Given the description of an element on the screen output the (x, y) to click on. 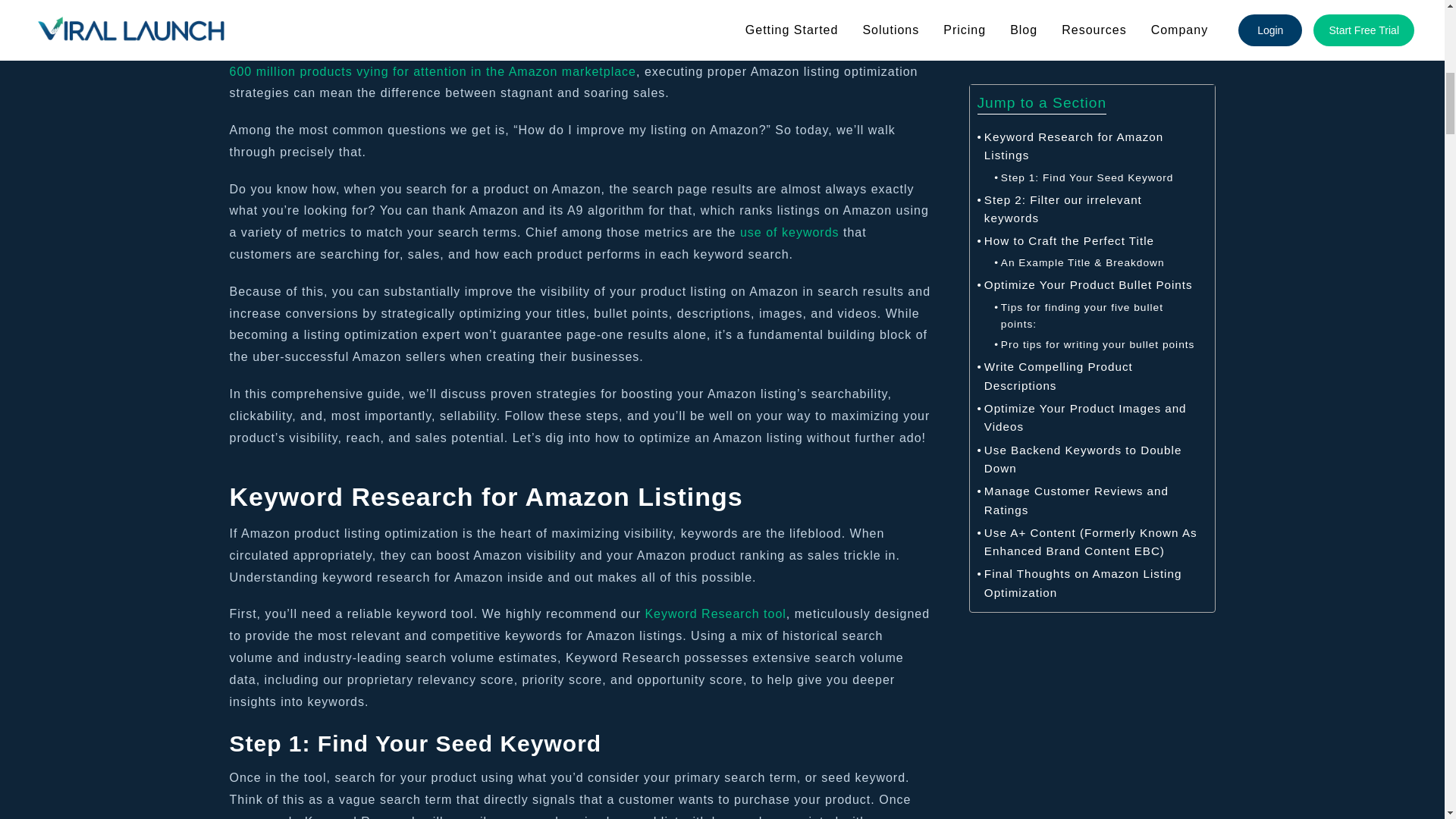
Step 1: Find Your Seed Keyword (1083, 178)
Keyword Research for Amazon Listings (1087, 146)
